Given the description of an element on the screen output the (x, y) to click on. 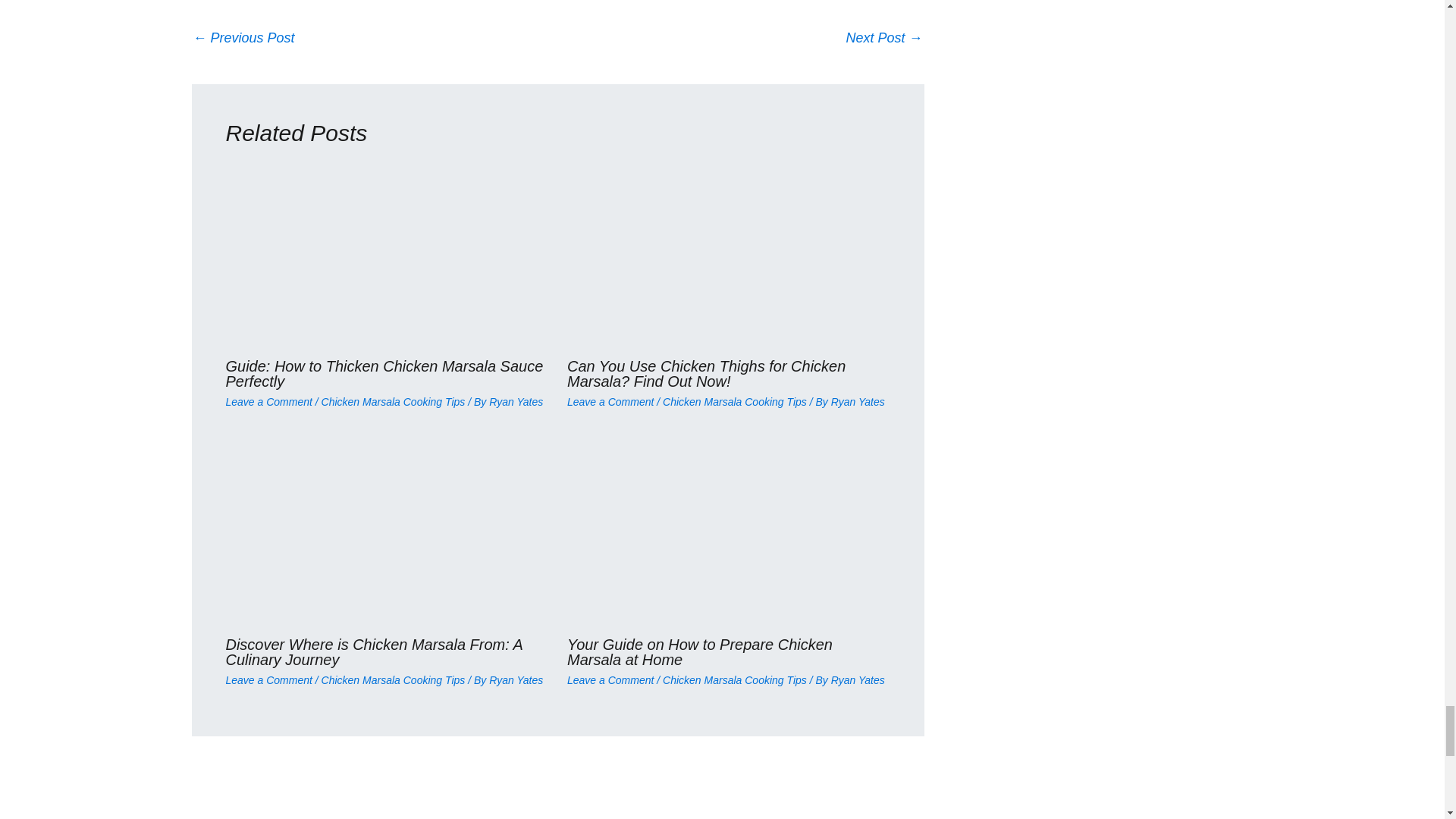
Guide: How to Thicken Chicken Marsala Sauce Perfectly (884, 39)
View all posts by Ryan Yates (858, 680)
View all posts by Ryan Yates (516, 401)
View all posts by Ryan Yates (516, 680)
How to Cook Ham in a Crockpot (243, 39)
View all posts by Ryan Yates (858, 401)
